Given the description of an element on the screen output the (x, y) to click on. 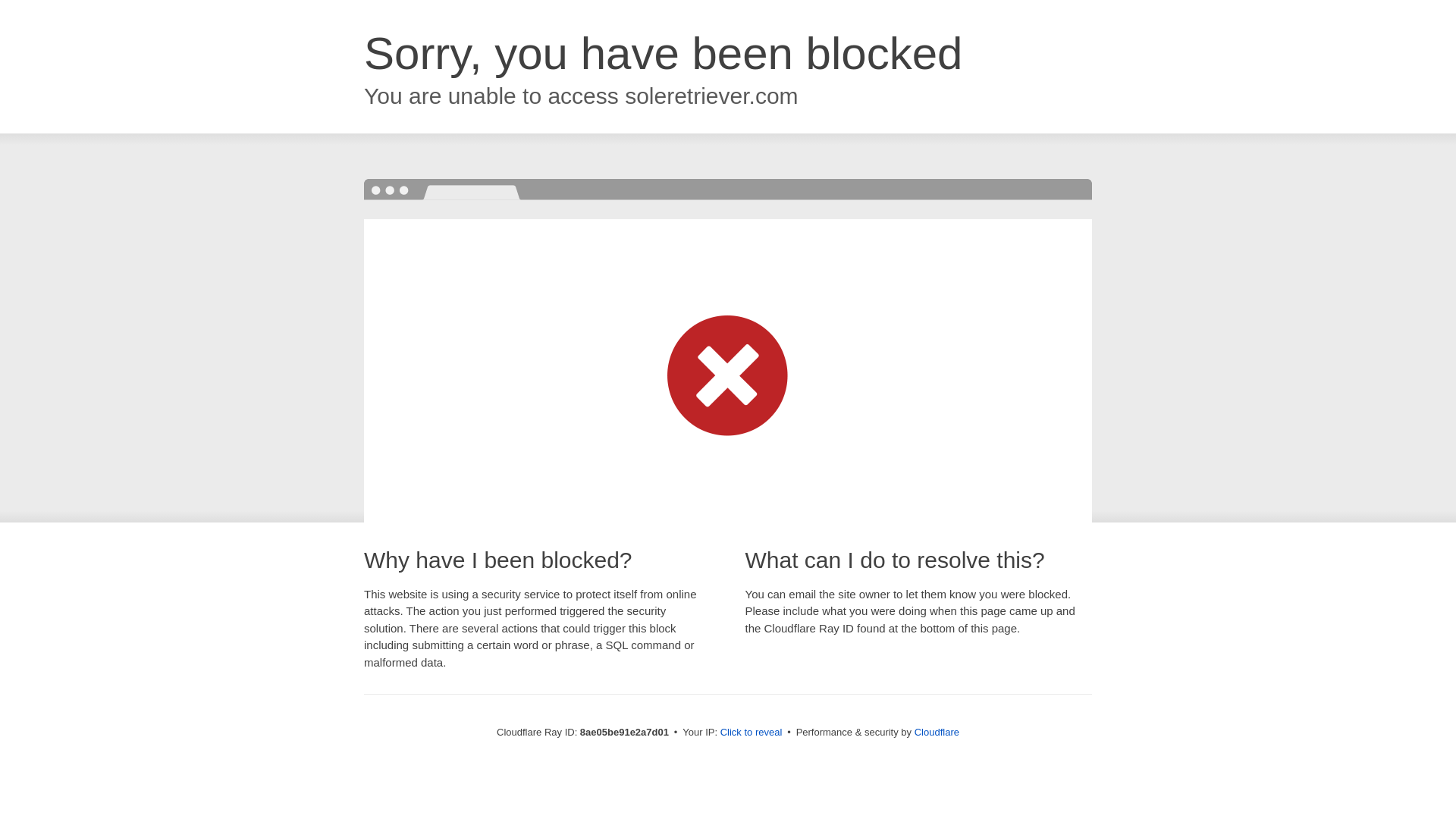
Cloudflare (936, 731)
Click to reveal (751, 732)
